Given the description of an element on the screen output the (x, y) to click on. 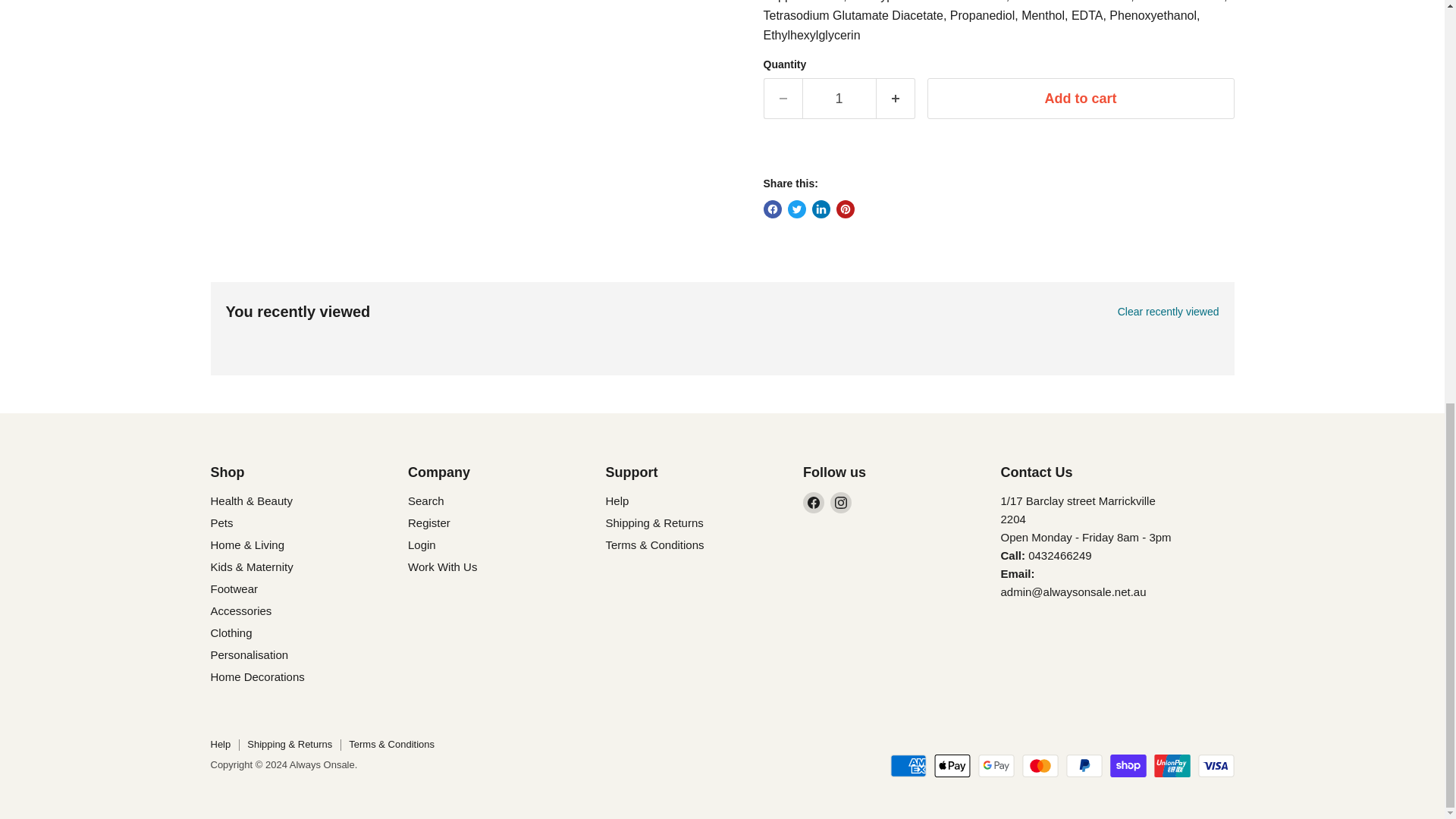
Facebook (813, 502)
American Express (907, 765)
Apple Pay (952, 765)
1 (839, 98)
Mastercard (1040, 765)
Google Pay (996, 765)
Instagram (840, 502)
